Given the description of an element on the screen output the (x, y) to click on. 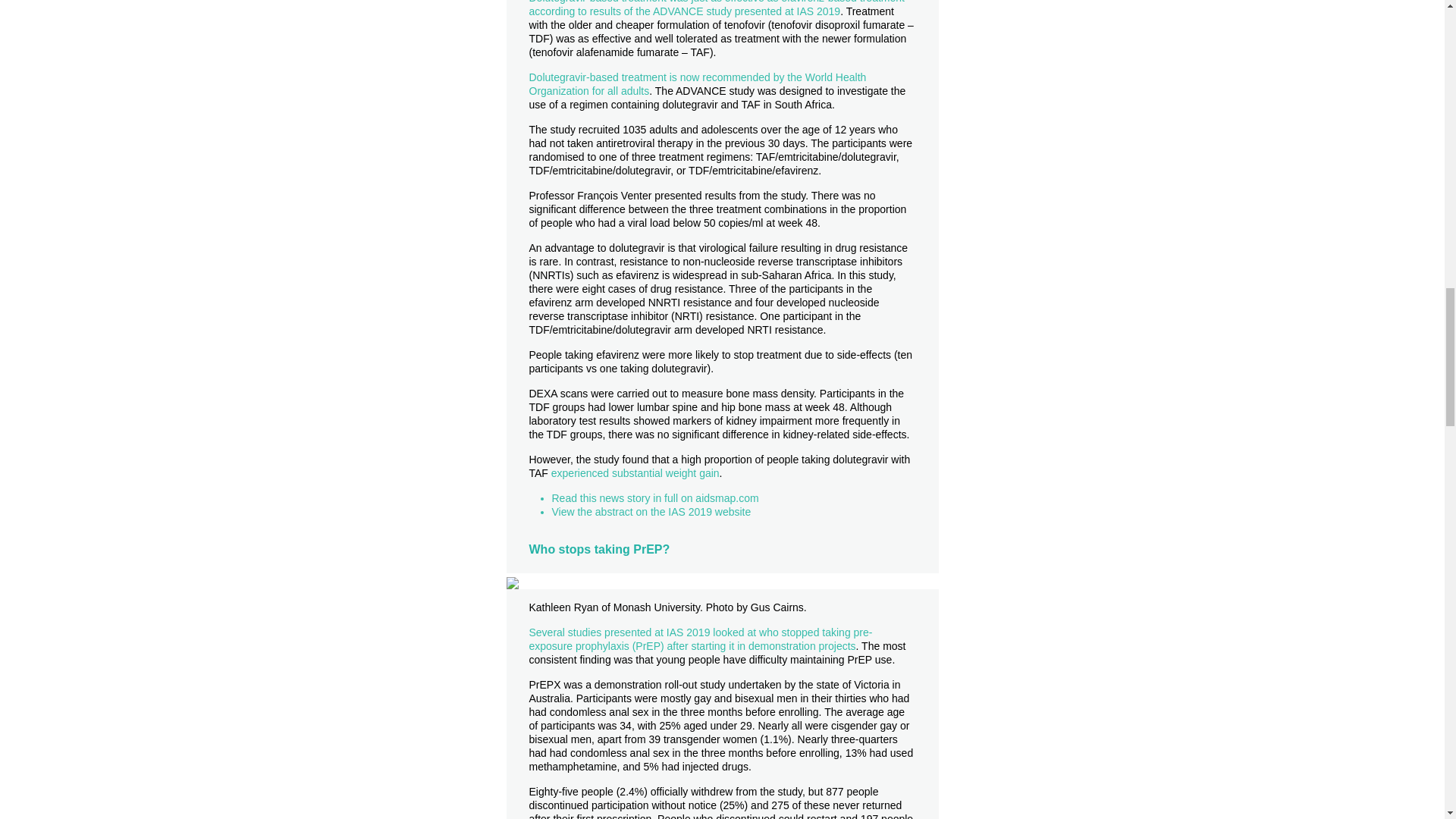
Read this news story in full on aidsmap.com (654, 498)
View the abstract on the IAS 2019 website (651, 511)
experienced substantial weight gain (635, 472)
